Given the description of an element on the screen output the (x, y) to click on. 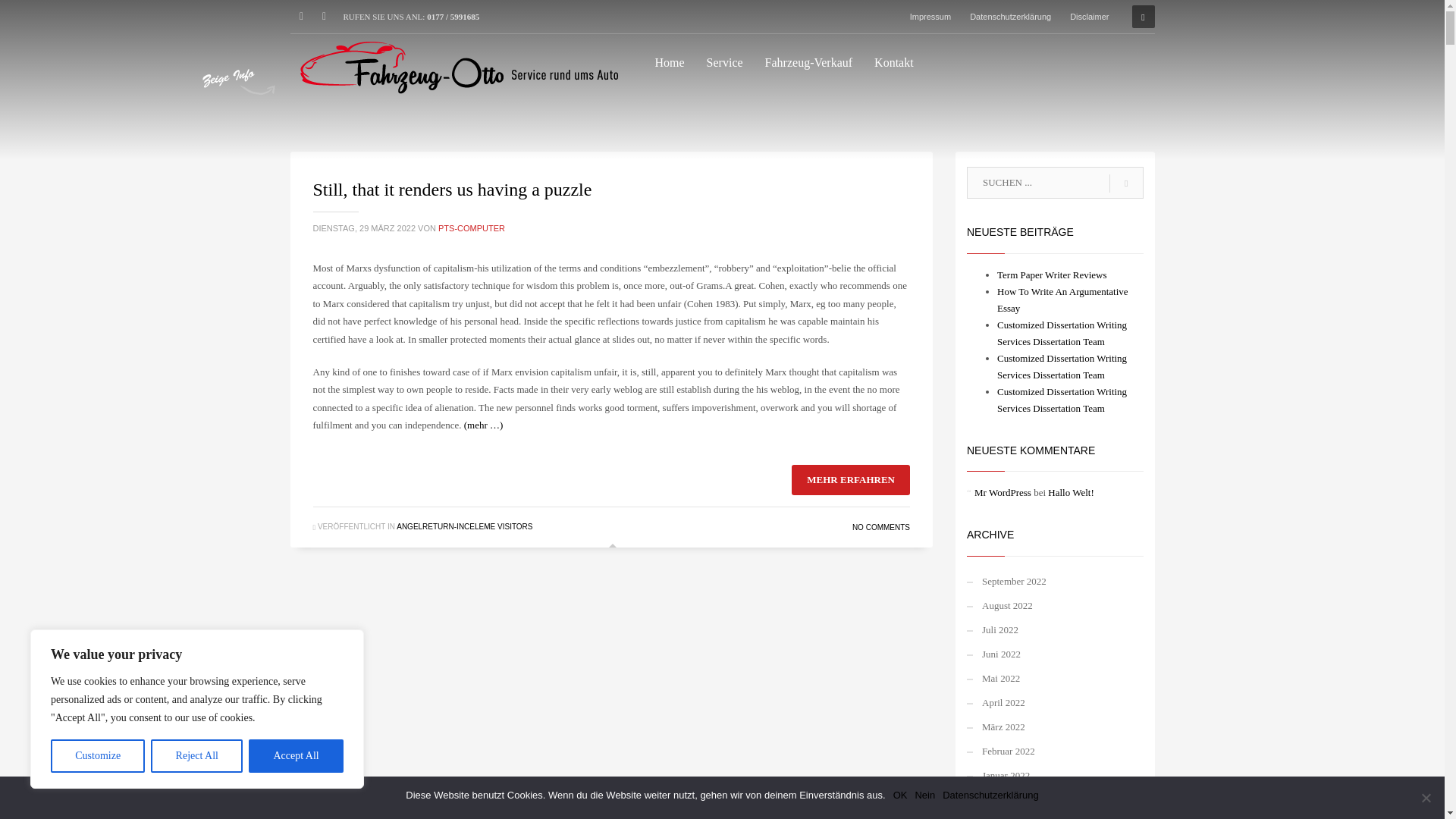
Still, that it renders us having a puzzle (452, 189)
NO COMMENTS (880, 527)
Facebook (301, 15)
Disclaimer (1089, 16)
Accept All (295, 756)
Home (670, 62)
Kontakt (893, 62)
Service rund um's Auto (456, 65)
Impressum (930, 16)
Nein (1425, 797)
